Given the description of an element on the screen output the (x, y) to click on. 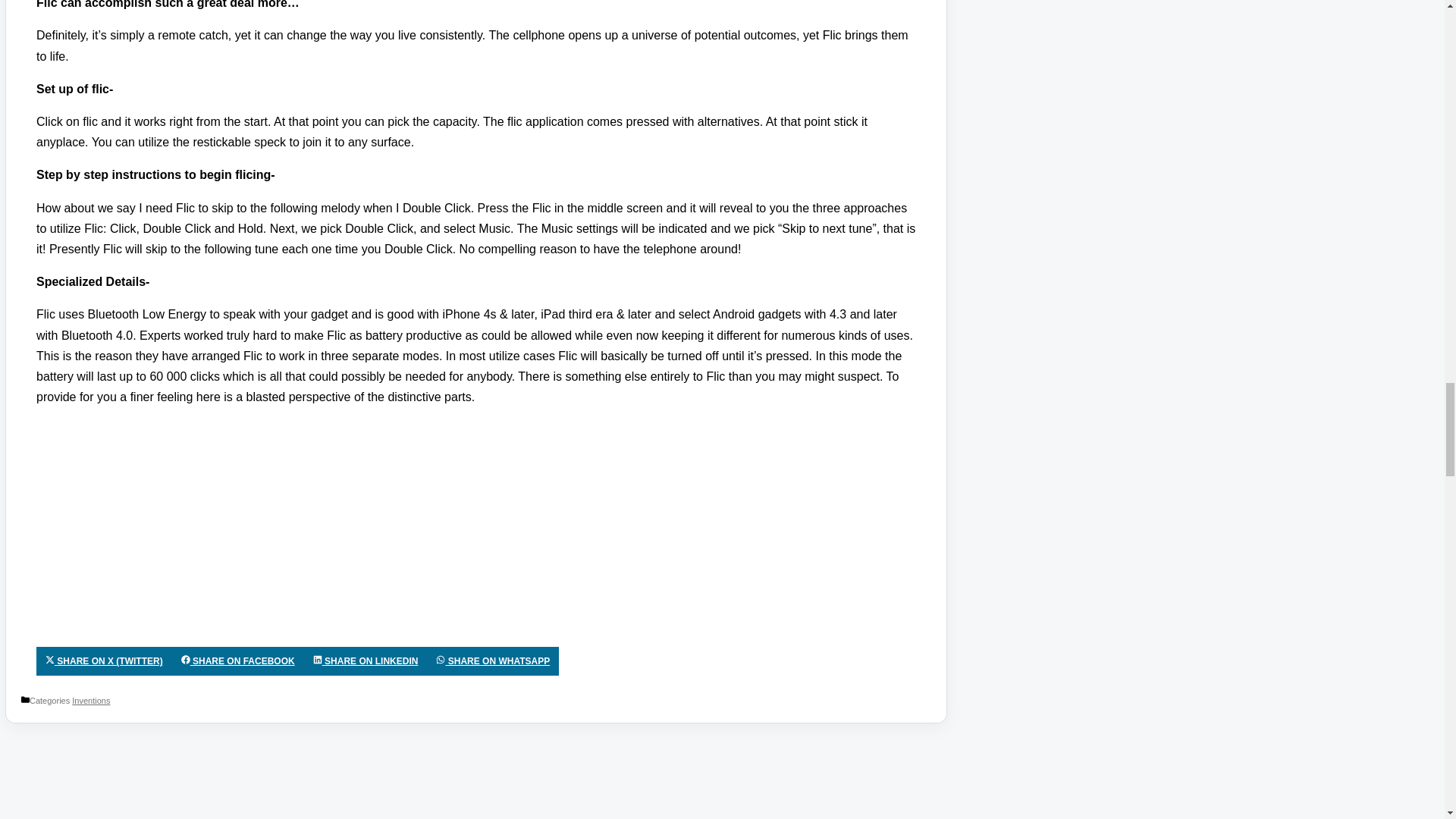
SHARE ON LINKEDIN (366, 661)
SHARE ON WHATSAPP (492, 661)
Inventions (90, 700)
SHARE ON FACEBOOK (237, 661)
